Given the description of an element on the screen output the (x, y) to click on. 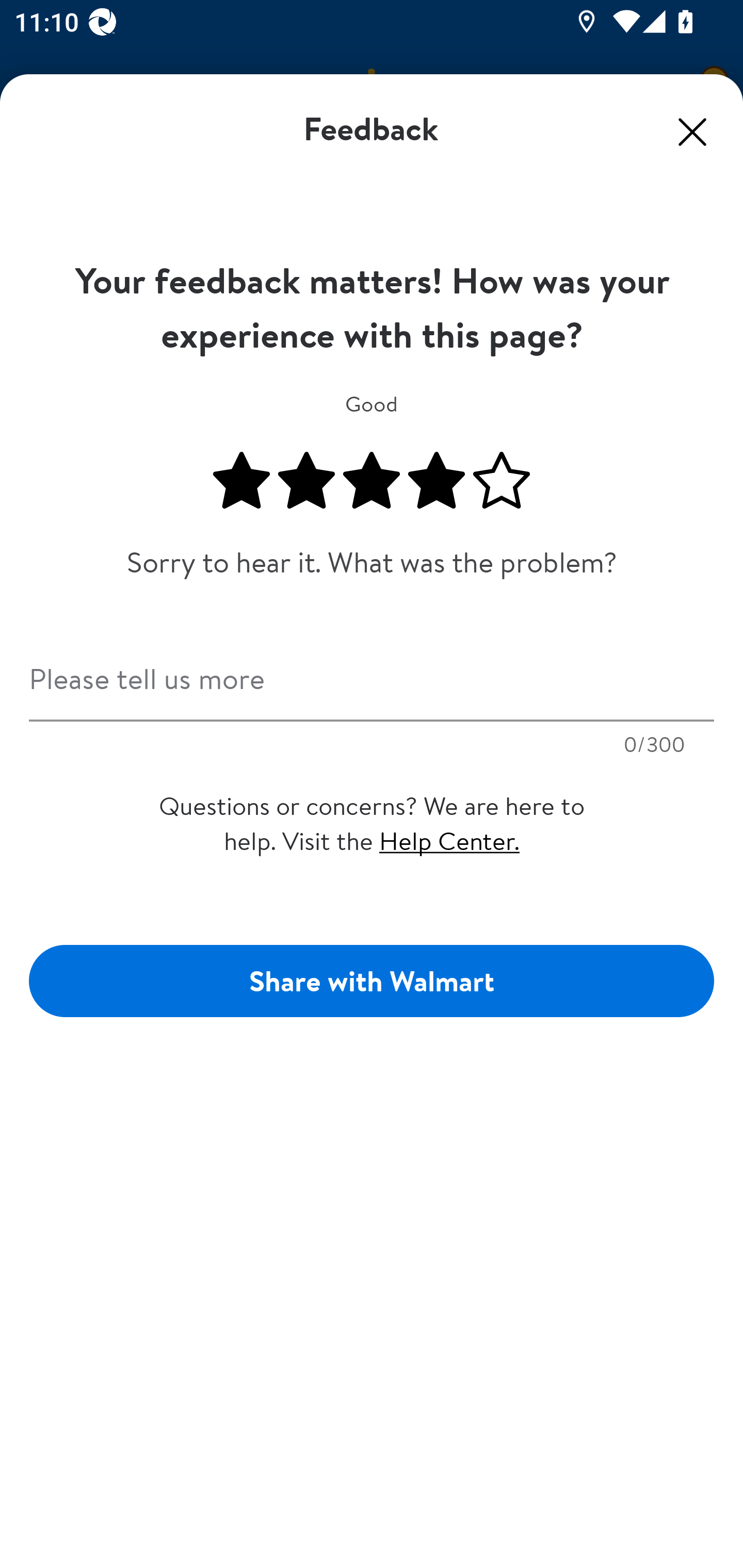
Close (692, 131)
1 out of 5 stars, not selected (241, 480)
2 out of 5 stars, not selected (306, 480)
3 out of 5 stars, not selected (371, 480)
4 out of 5 stars, selected (436, 480)
5 out of 5 stars, not selected (501, 480)
Please tell us more (371, 673)
Share with Walmart (371, 981)
